Given the description of an element on the screen output the (x, y) to click on. 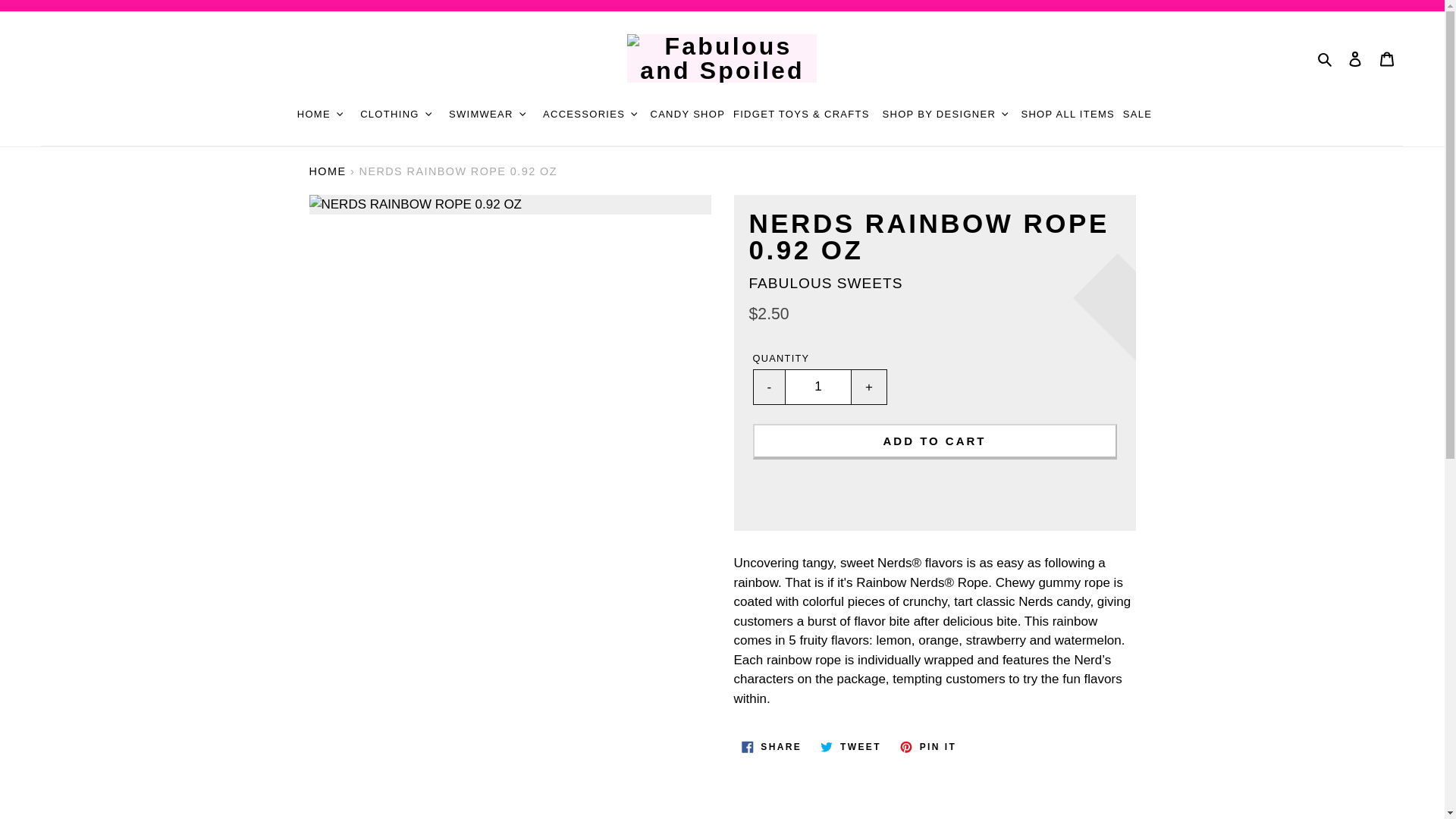
Cart (1387, 58)
1 (818, 387)
Log in (1355, 58)
Home (327, 171)
Search (1326, 57)
